Given the description of an element on the screen output the (x, y) to click on. 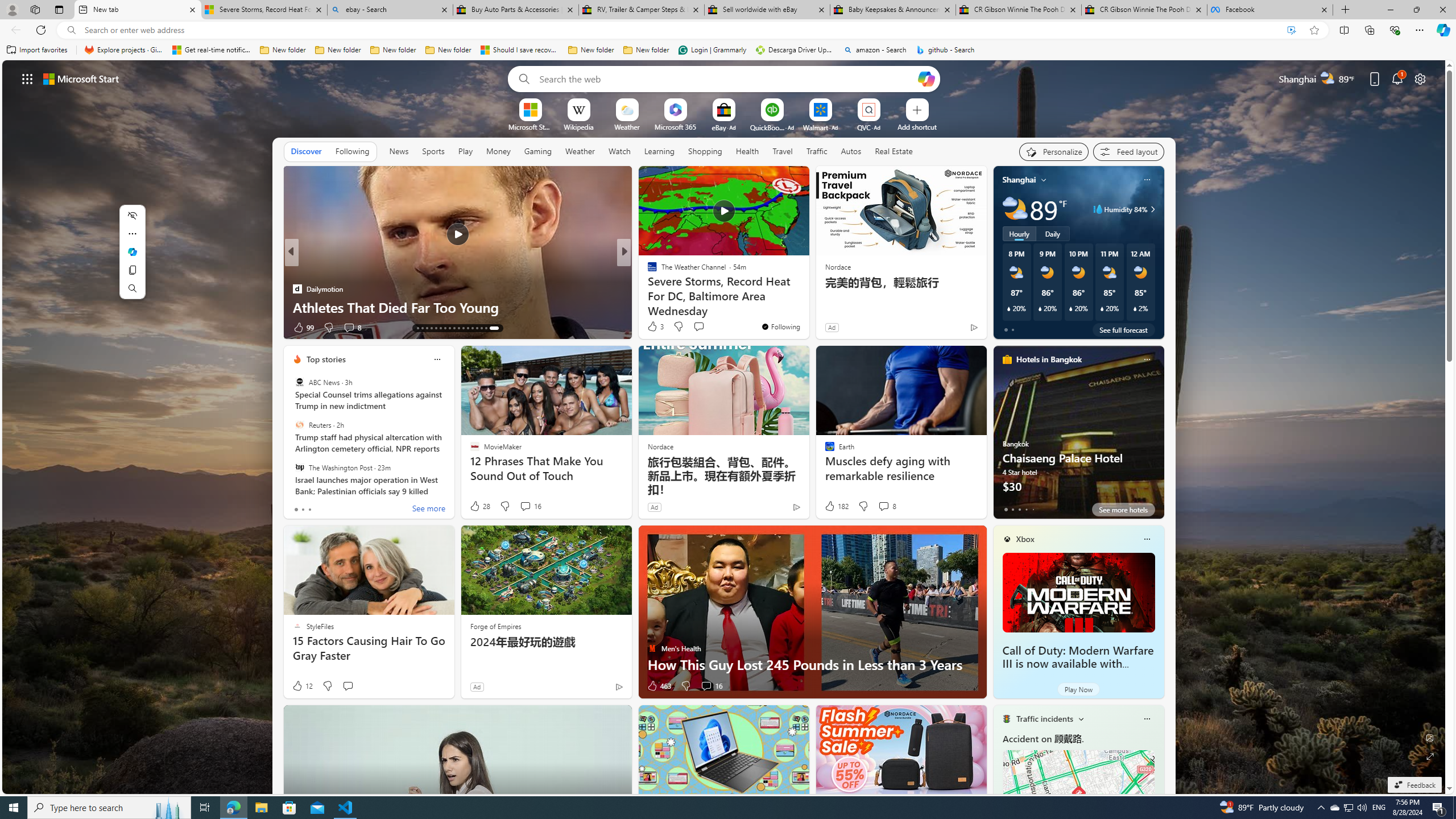
Sports (432, 151)
Daily (1052, 233)
Las Vegas Strip visitors face outrageous new fee (807, 307)
Dailymotion (647, 288)
AutomationID: tab-26 (483, 328)
USA TODAY (647, 270)
Ask Copilot (132, 252)
Learning (658, 151)
Gaming (537, 151)
Play (465, 151)
